Given the description of an element on the screen output the (x, y) to click on. 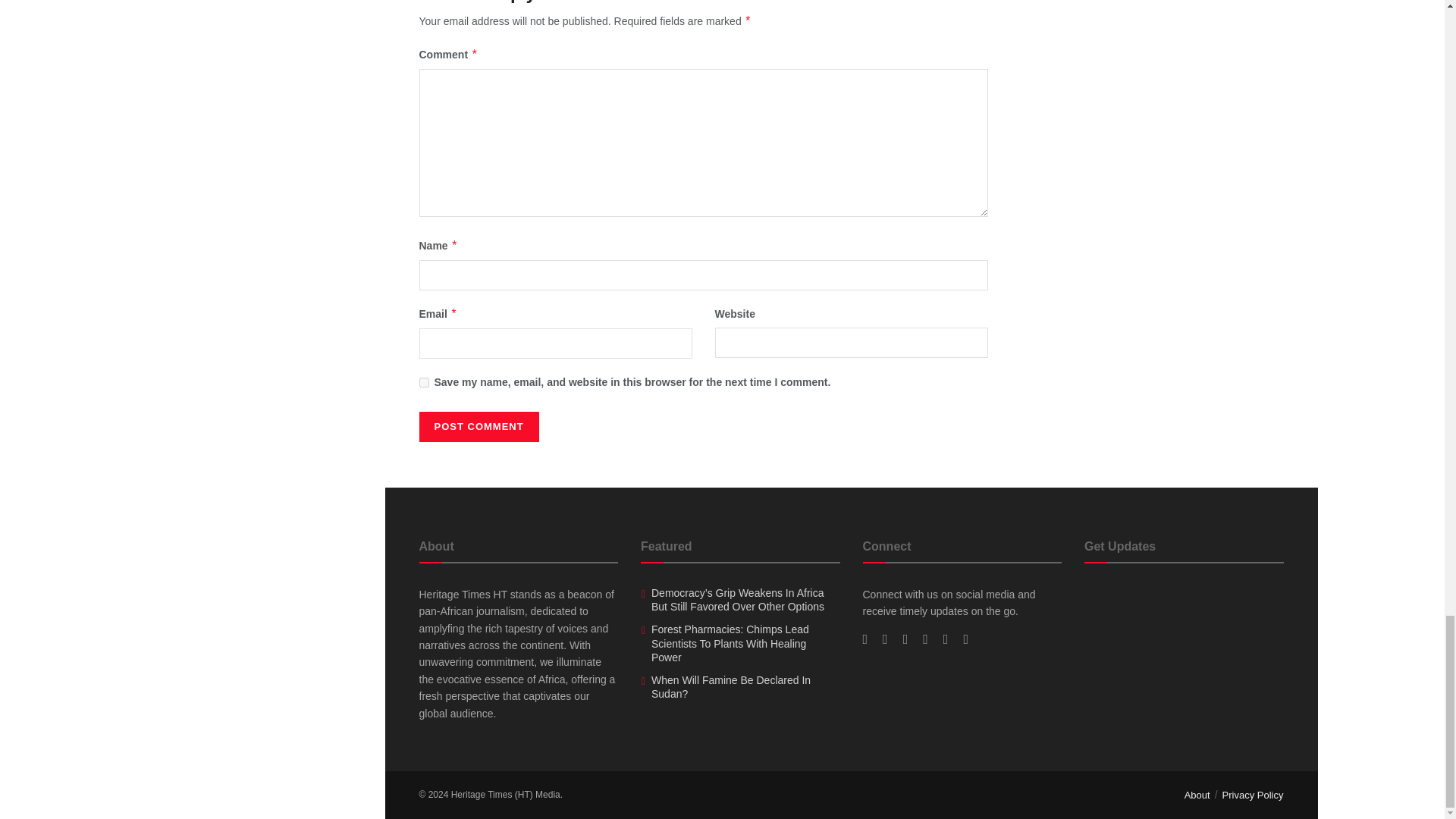
Post Comment (478, 426)
yes (423, 382)
